Given the description of an element on the screen output the (x, y) to click on. 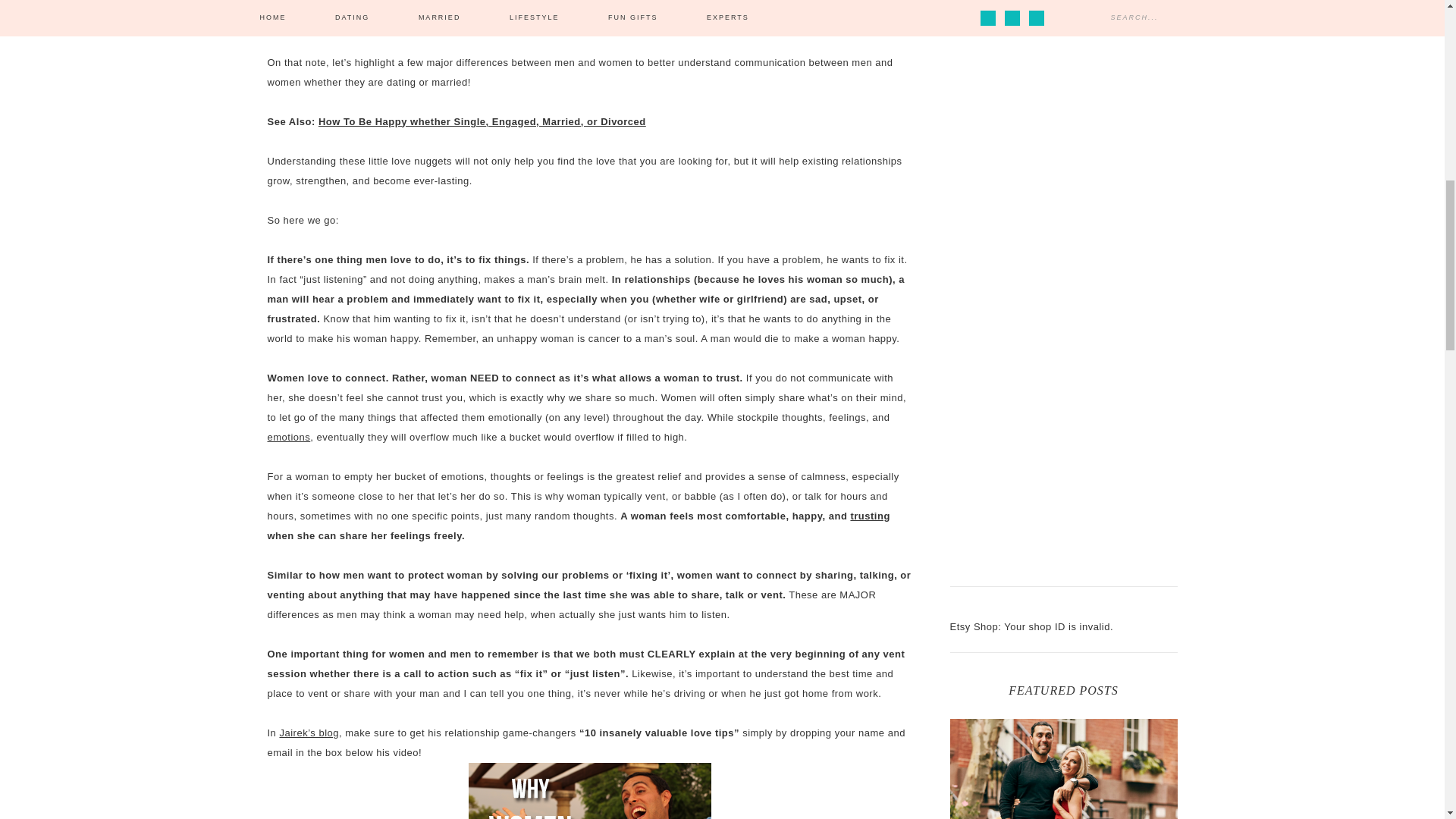
Emotion (288, 437)
trusting (869, 515)
On his blog (293, 4)
Get More Love (588, 790)
Advertisement (1062, 336)
emotions (288, 437)
